Given the description of an element on the screen output the (x, y) to click on. 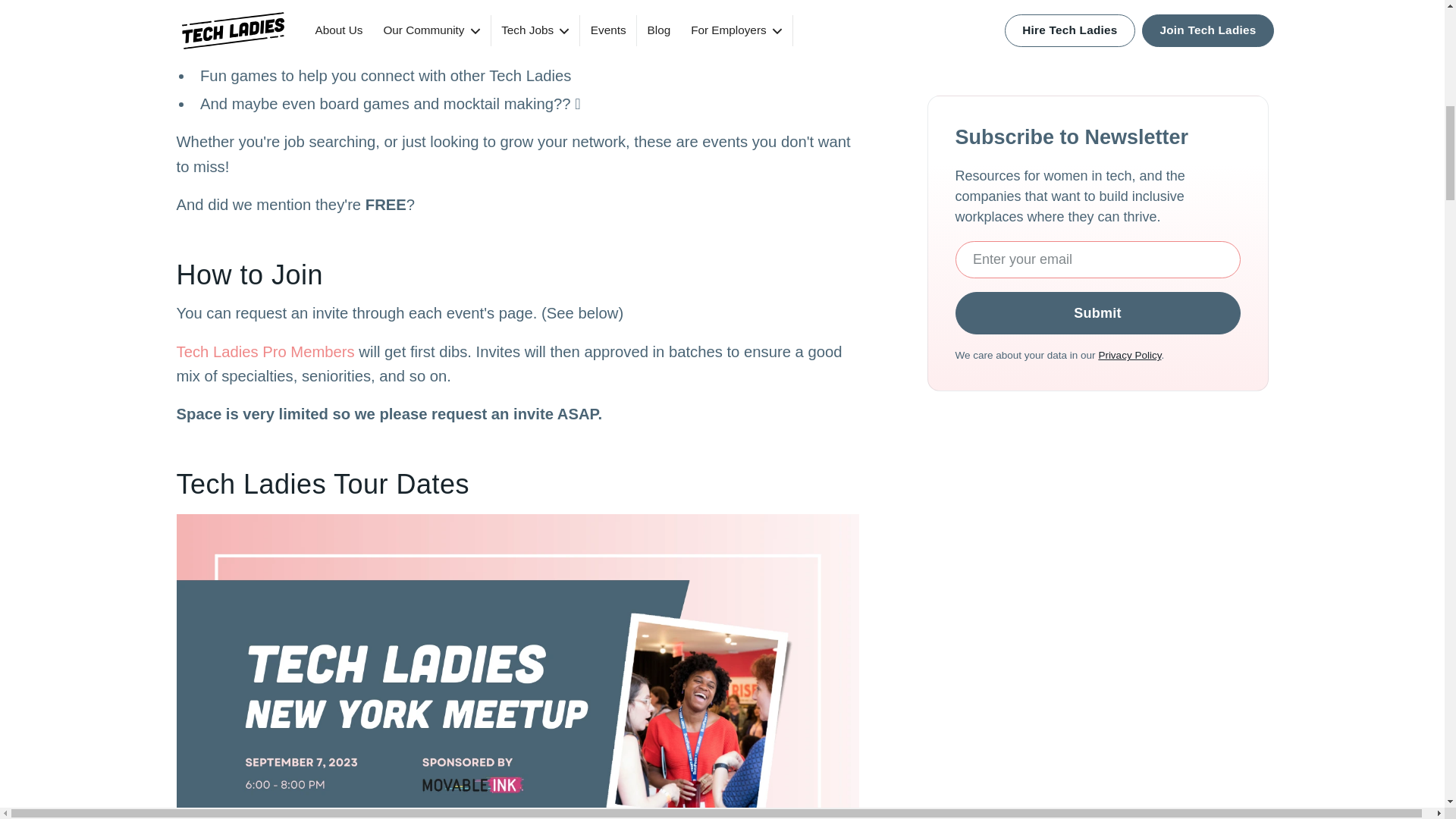
Tech Ladies Pro Members (264, 351)
